Given the description of an element on the screen output the (x, y) to click on. 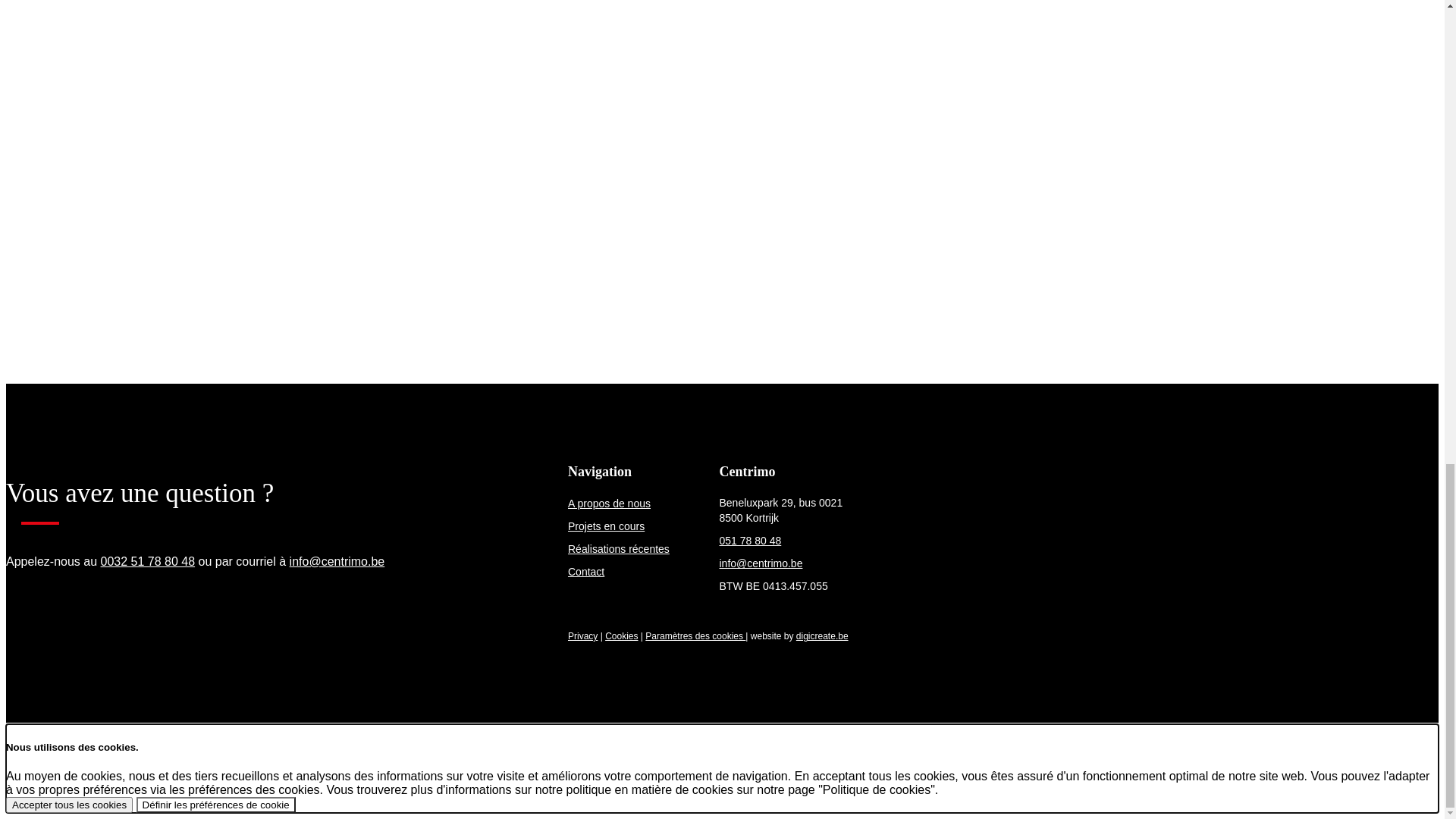
Realisations Element type: text (34, 199)
VOIR LES PHOTOS Element type: text (1361, 695)
CONTACT Element type: text (793, 68)
FR Element type: text (847, 62)
Home Element type: text (20, 173)
A PROPOS DE NOUS Element type: text (368, 68)
PROJETS EN COURS Element type: text (508, 68)
